Given the description of an element on the screen output the (x, y) to click on. 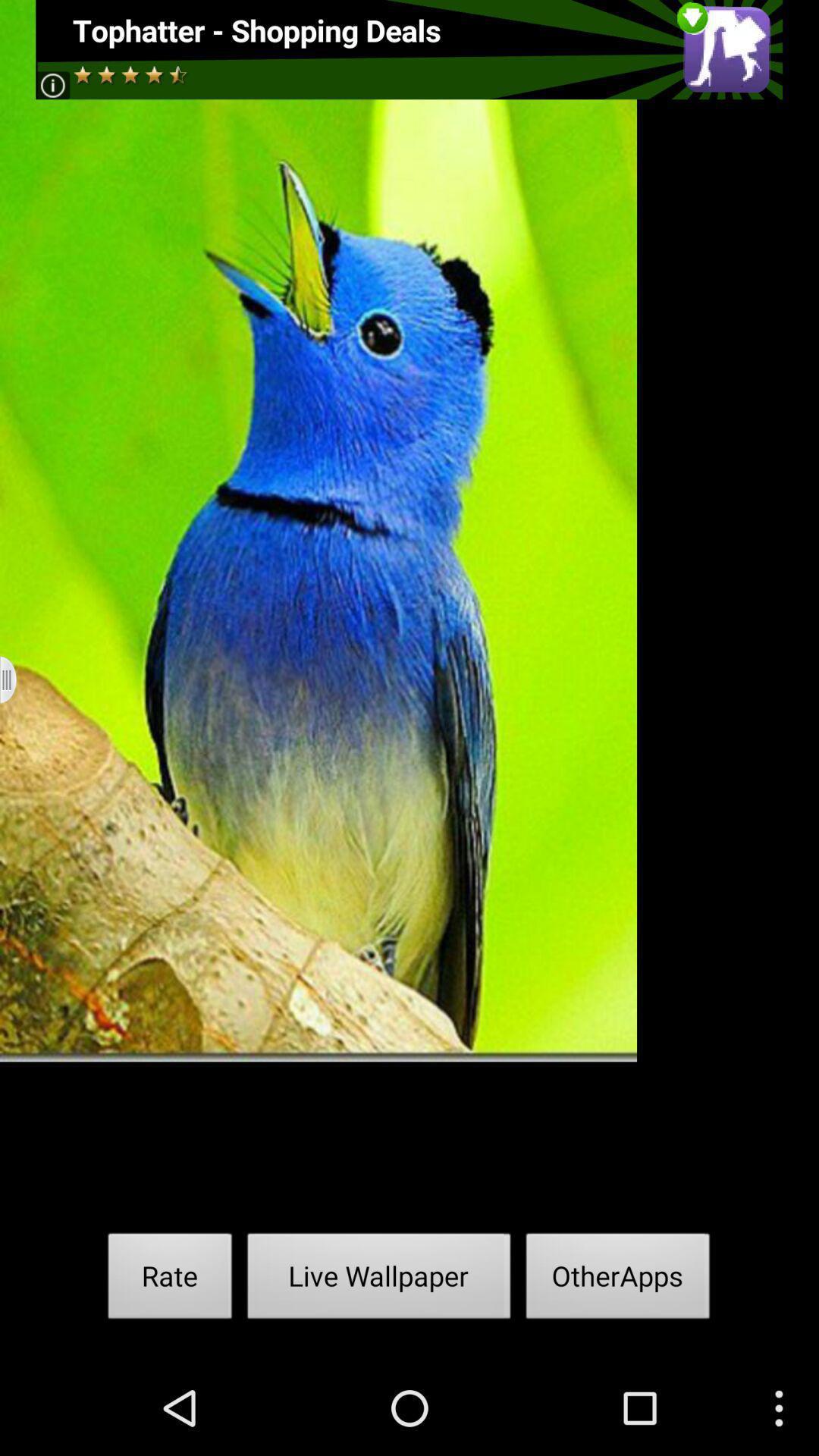
advertisement (408, 49)
